Given the description of an element on the screen output the (x, y) to click on. 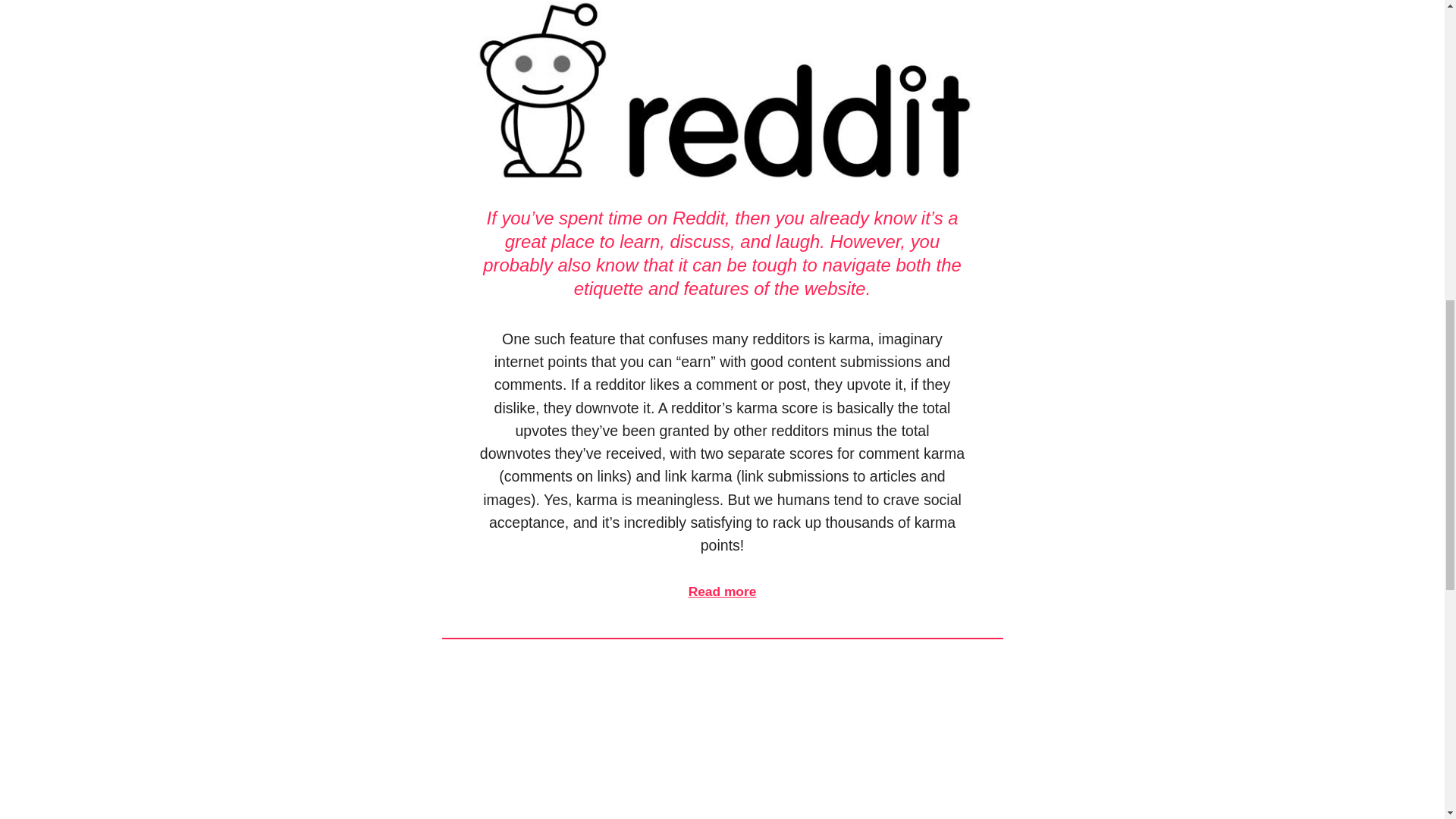
Read more (722, 590)
How to get karma on Reddit in 10 easy steps (722, 93)
Reddit (698, 218)
